Given the description of an element on the screen output the (x, y) to click on. 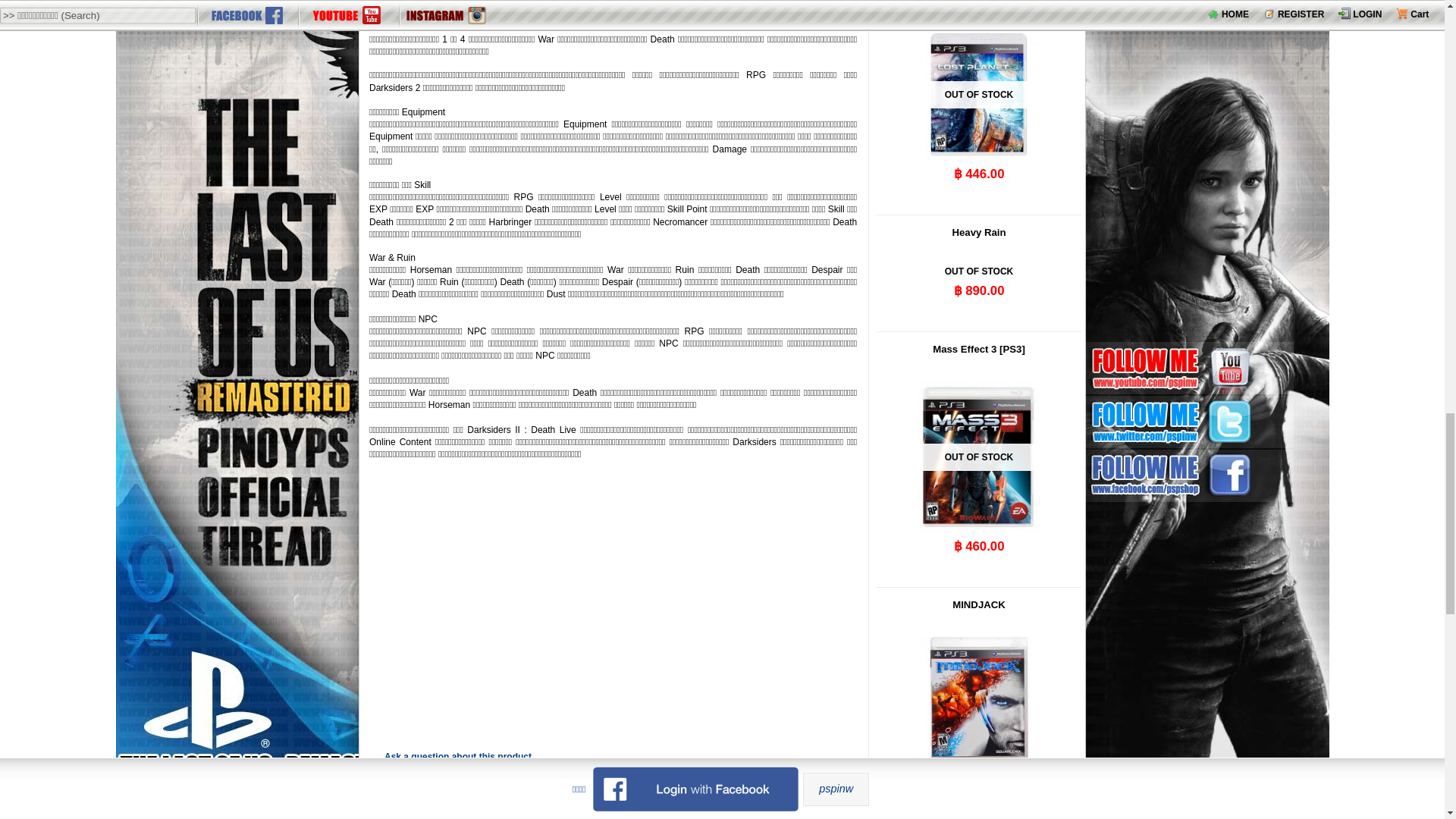
Add to Cart (979, 195)
Add to Cart (979, 567)
Add to Cart (979, 312)
Add to Cart (979, 794)
